Given the description of an element on the screen output the (x, y) to click on. 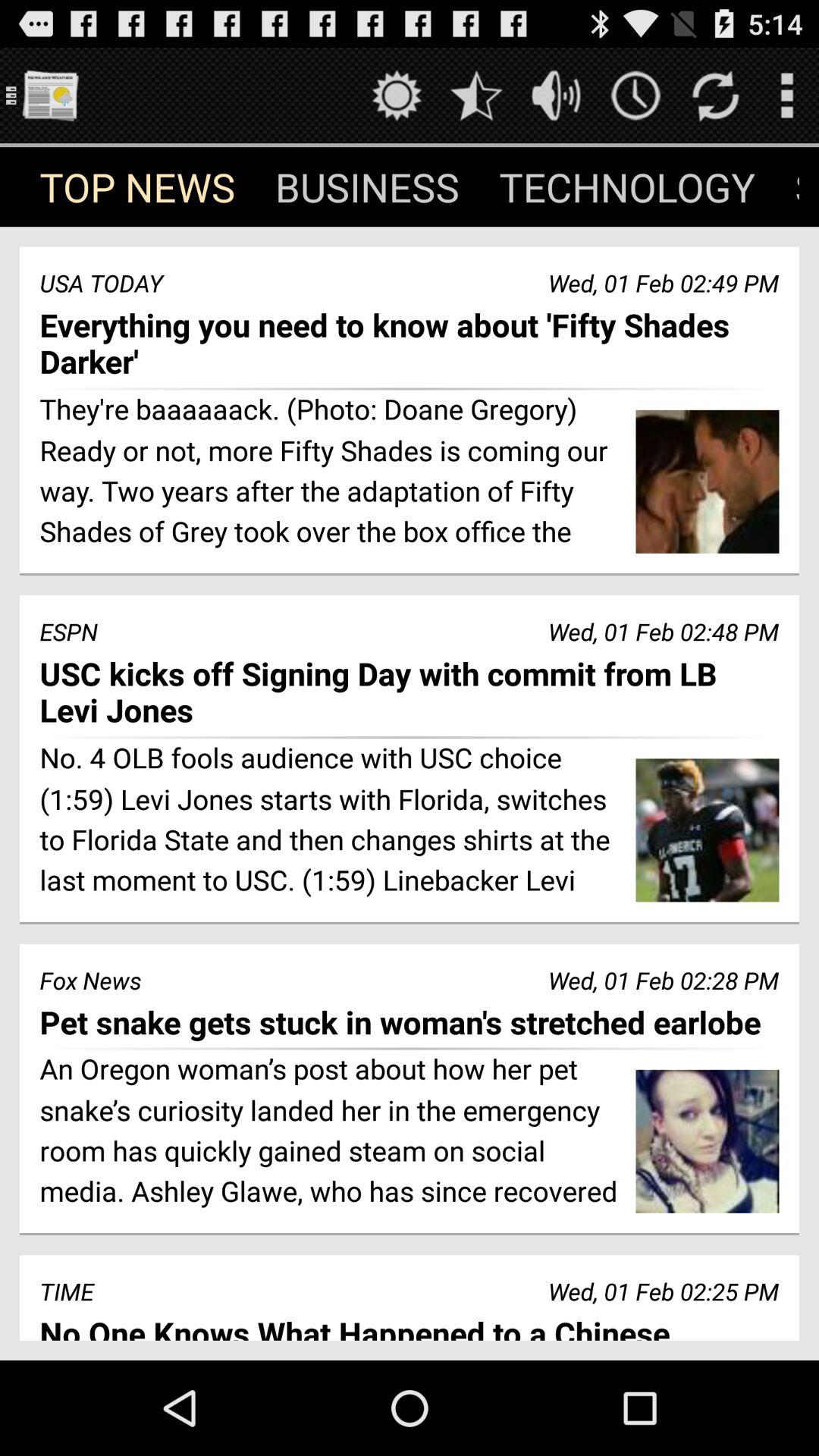
volume option (556, 95)
